Given the description of an element on the screen output the (x, y) to click on. 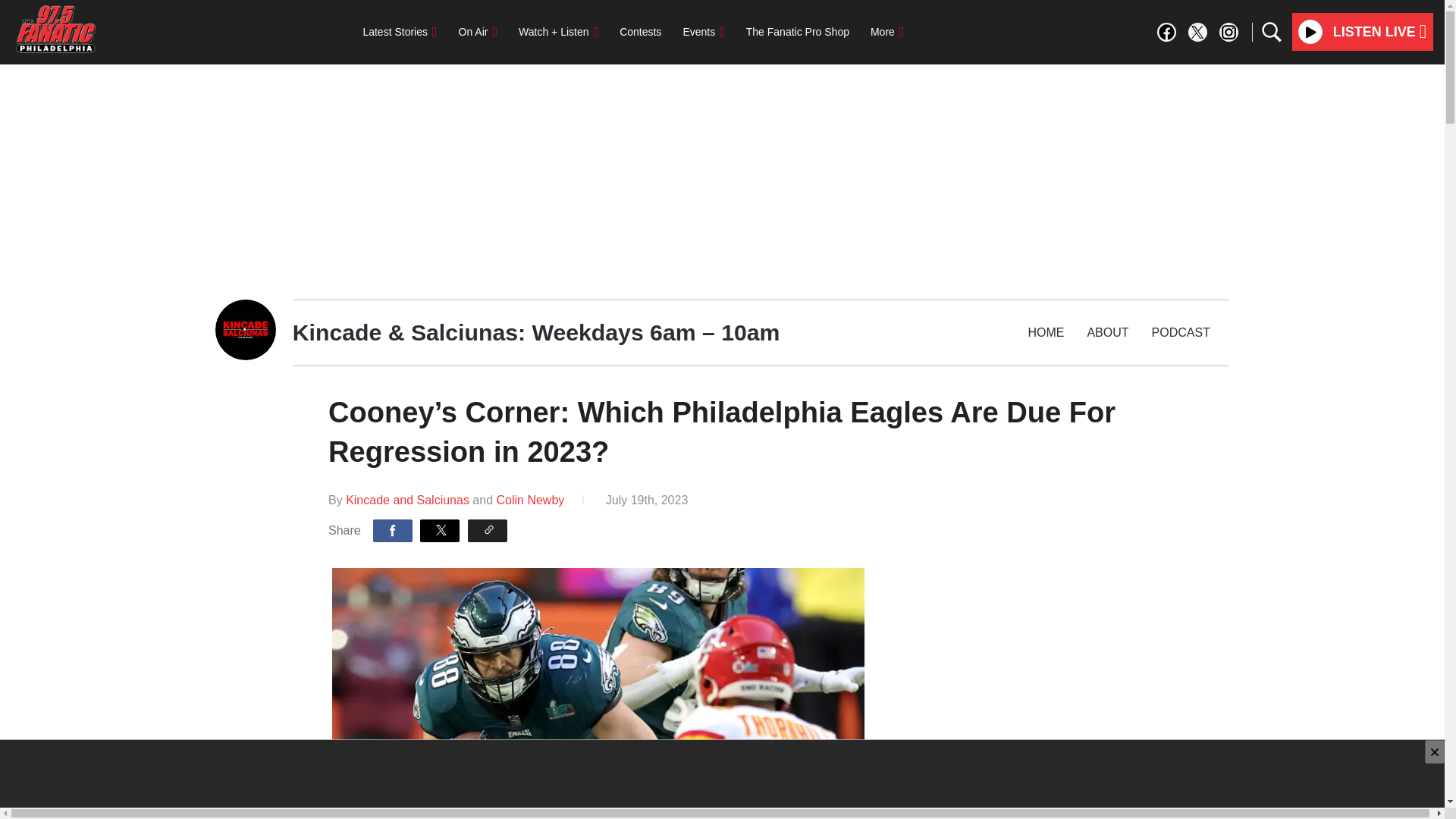
Latest Stories (399, 31)
Contests (639, 31)
Colin Newby (530, 499)
Kincade and Salciunas (408, 499)
Close AdCheckmark indicating ad close (1434, 751)
Events (703, 31)
On Air (478, 31)
